Given the description of an element on the screen output the (x, y) to click on. 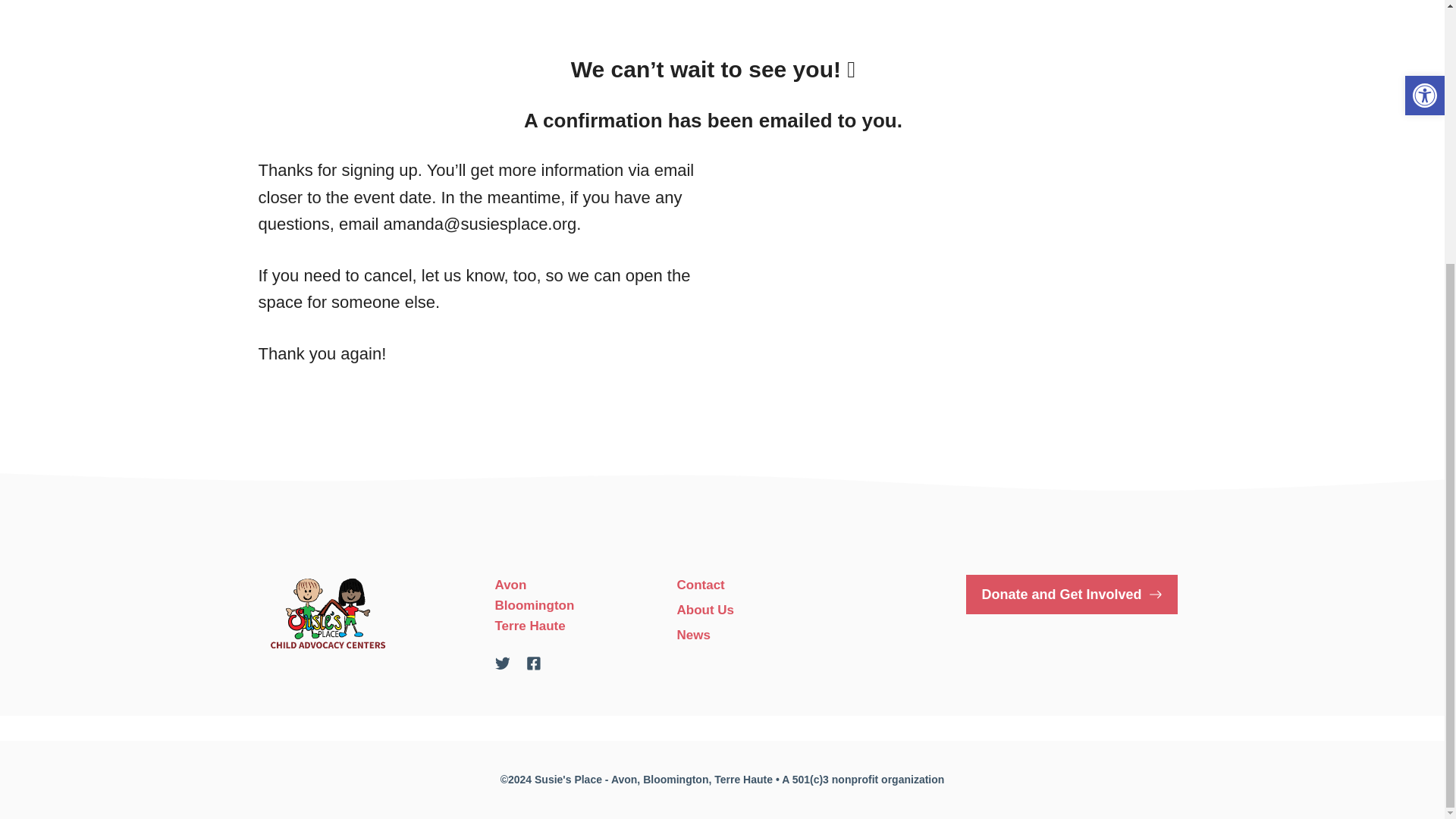
Terre Haute (529, 626)
Bloomington (534, 605)
Avon (510, 585)
Contact (700, 585)
